Given the description of an element on the screen output the (x, y) to click on. 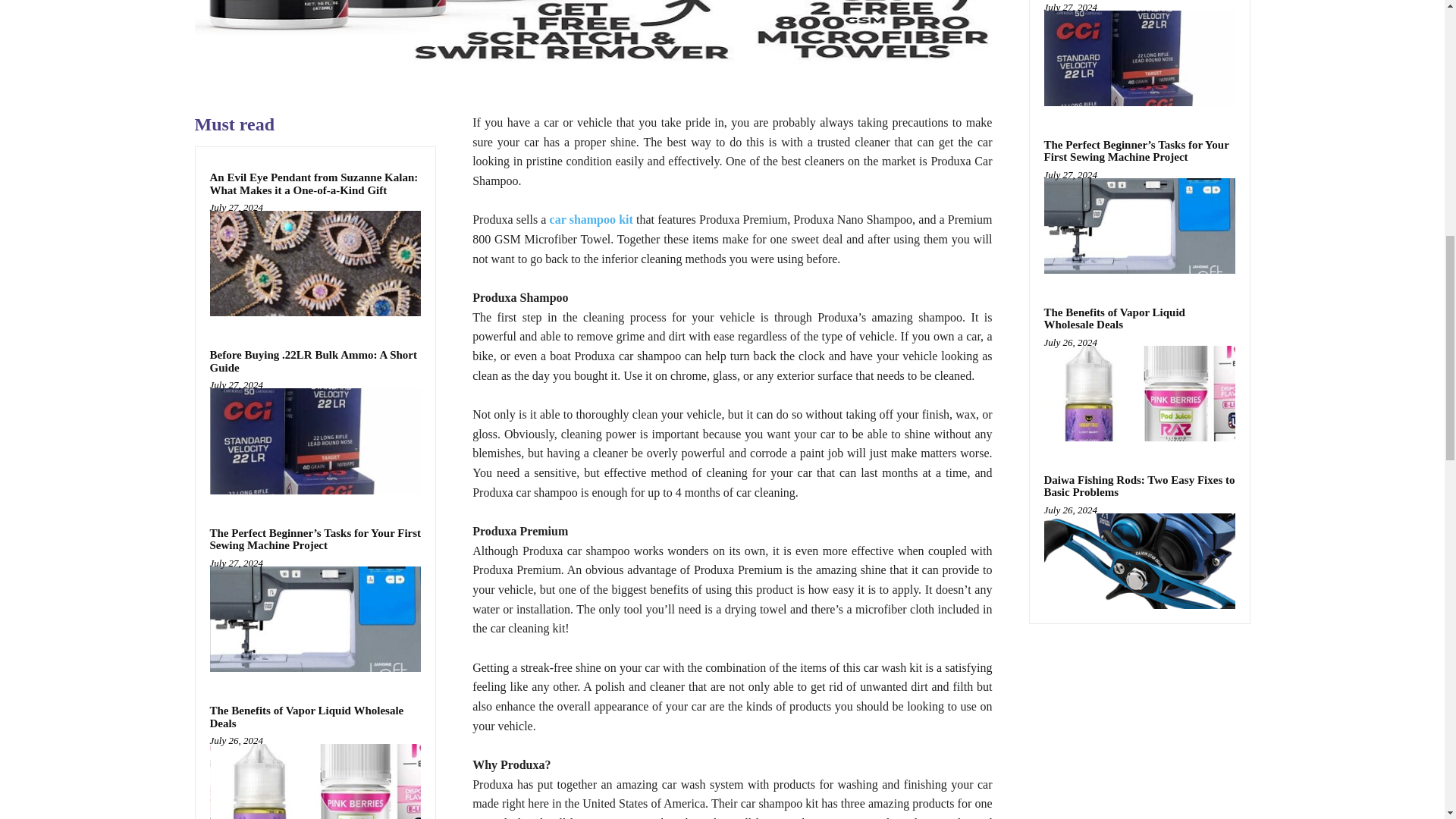
carsampo1024 (592, 38)
Before Buying .22LR Bulk Ammo: A Short Guide (314, 440)
